Given the description of an element on the screen output the (x, y) to click on. 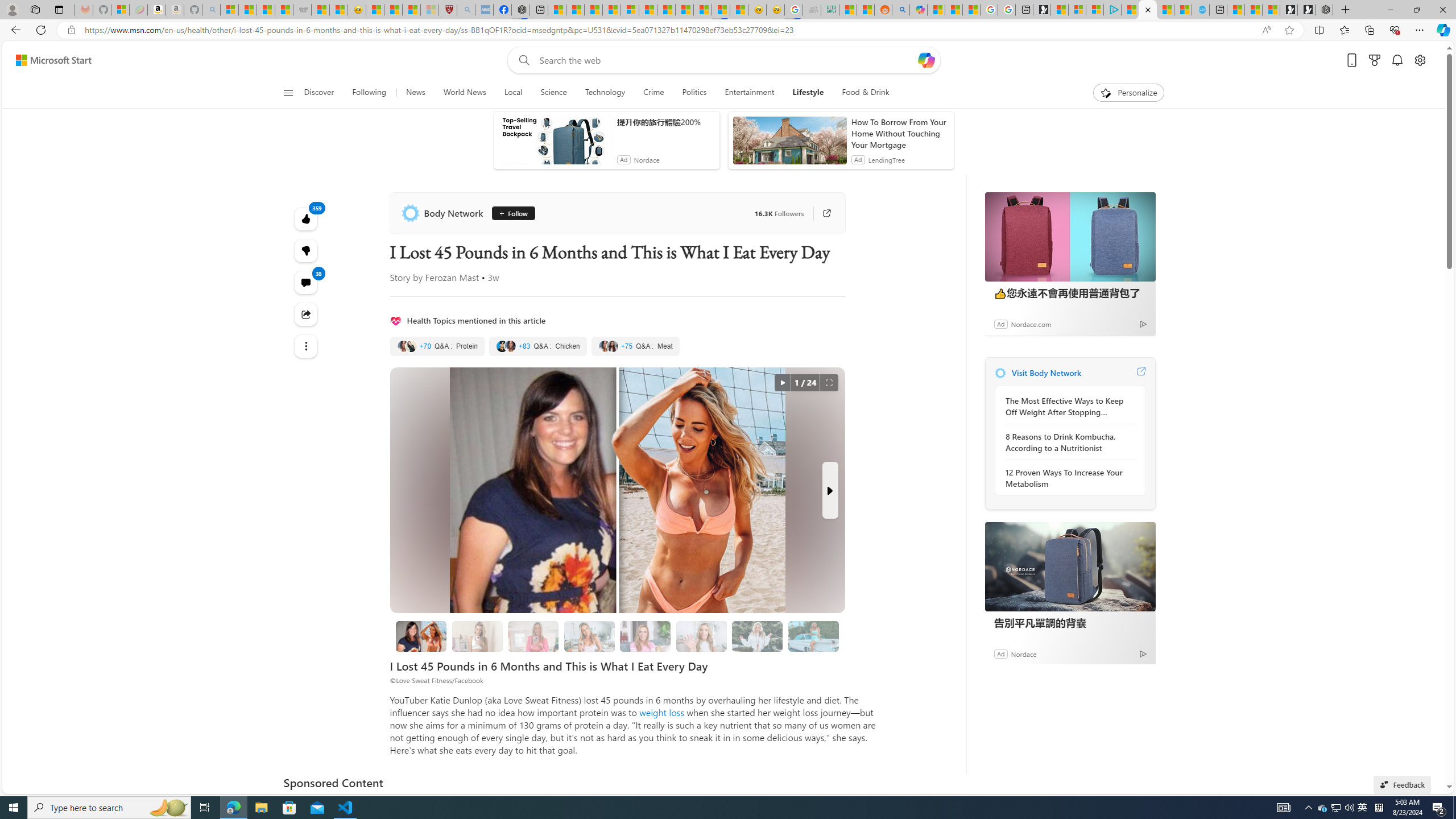
Go to publisher's site (826, 213)
13 If You Want to See Results, Be Consistent (644, 636)
